Given the description of an element on the screen output the (x, y) to click on. 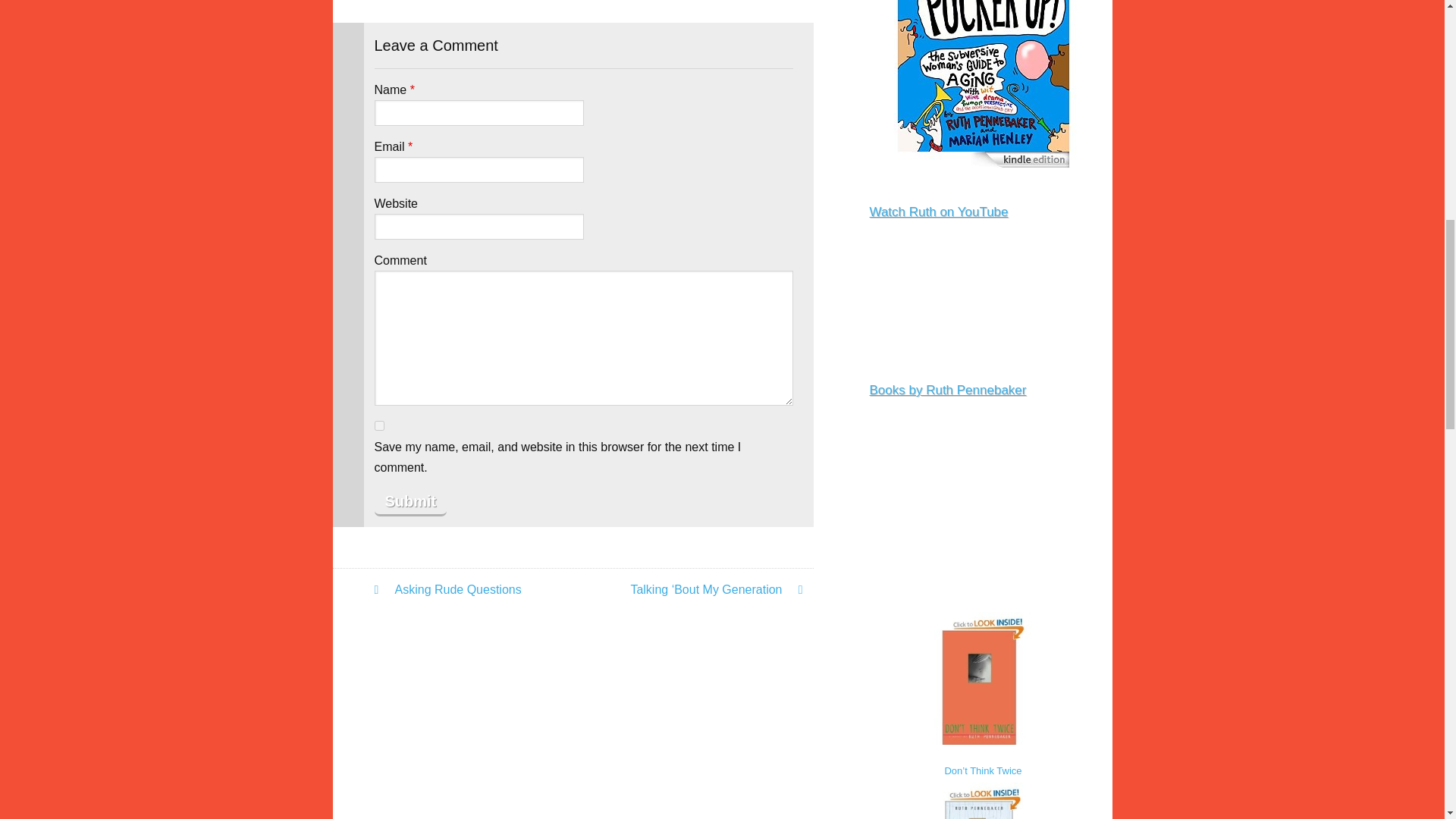
Both Sides Now (982, 798)
Watch Ruth on YouTube (938, 211)
Books by Ruth Pennebaker (947, 390)
Submit (410, 502)
Asking Rude Questions (476, 589)
Both Sides Now (982, 798)
Submit (410, 502)
yes (379, 425)
